Given the description of an element on the screen output the (x, y) to click on. 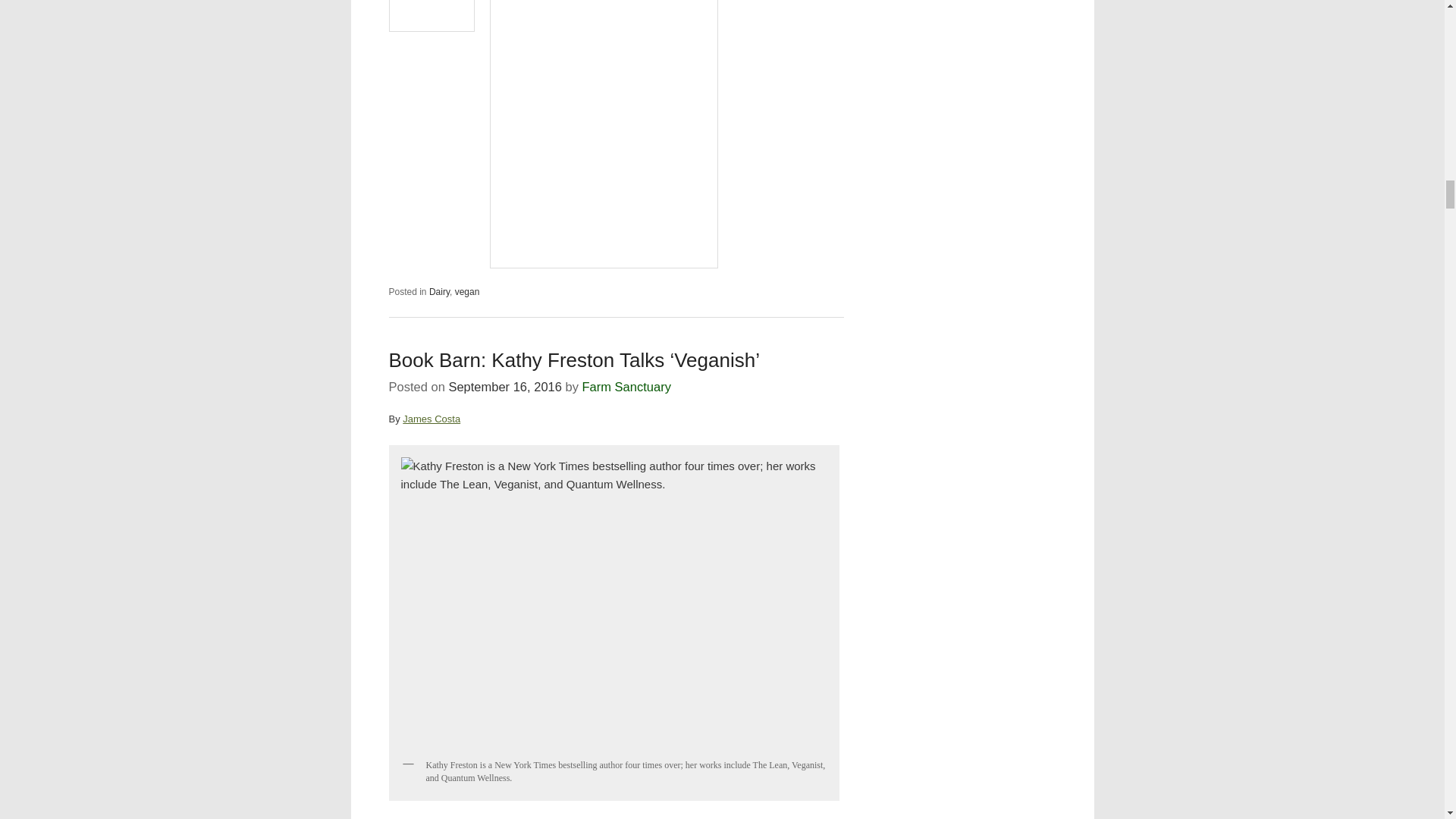
September 16, 2016 (505, 386)
Dairy (439, 291)
Farm Sanctuary (626, 386)
2:08 am (505, 386)
vegan (467, 291)
View all posts by Farm Sanctuary (626, 386)
James Costa (431, 419)
